Given the description of an element on the screen output the (x, y) to click on. 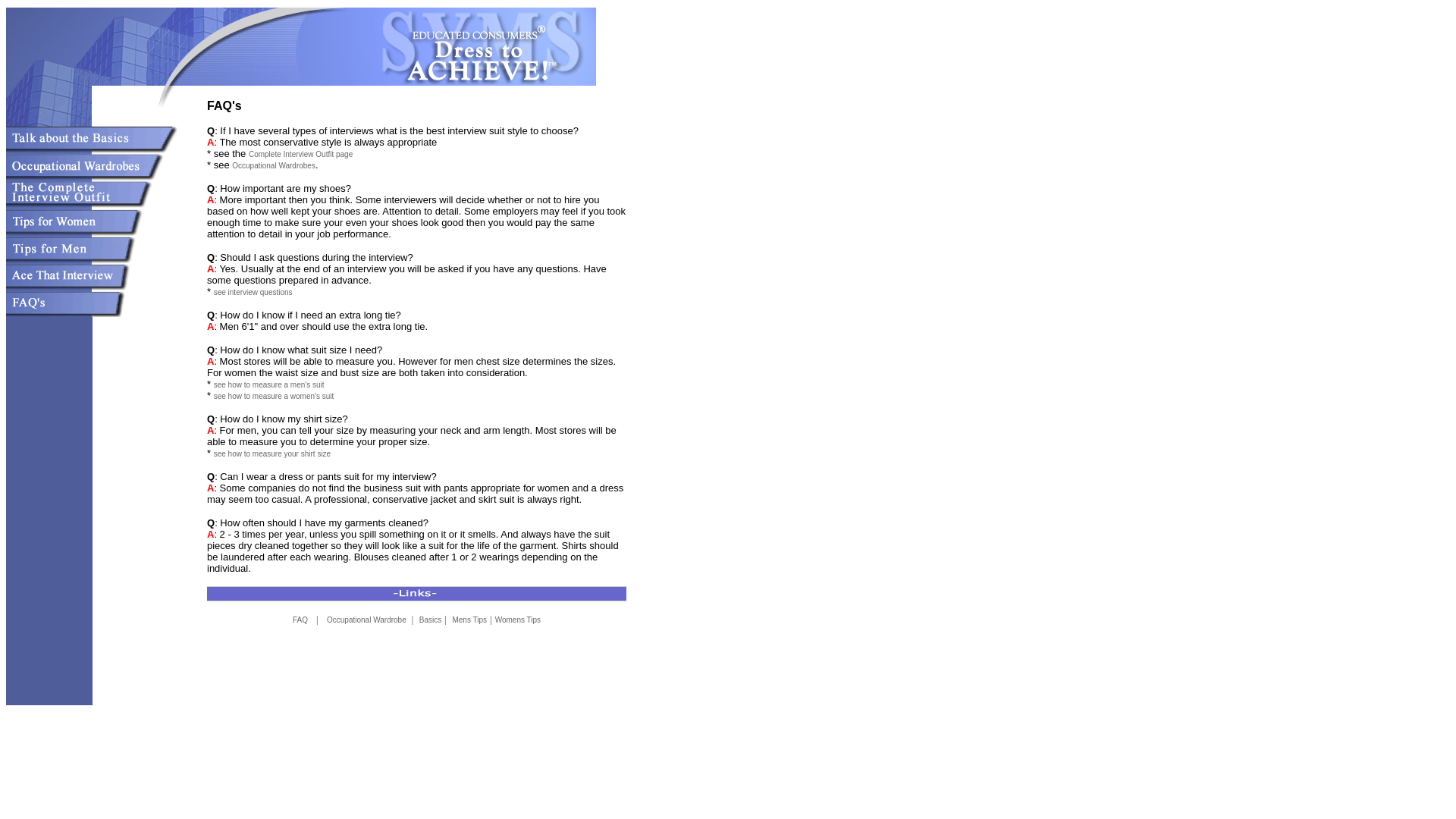
Mens Tips (468, 619)
Occupational Wardrobe (366, 619)
see interview questions (253, 292)
Occupational Wardrobes (273, 165)
Womens Tips (517, 619)
see how to measure a men's suit (269, 384)
Complete Interview Outfit page (300, 153)
FAQ (299, 619)
Basics (430, 619)
see how to measure your shirt size (272, 453)
